Given the description of an element on the screen output the (x, y) to click on. 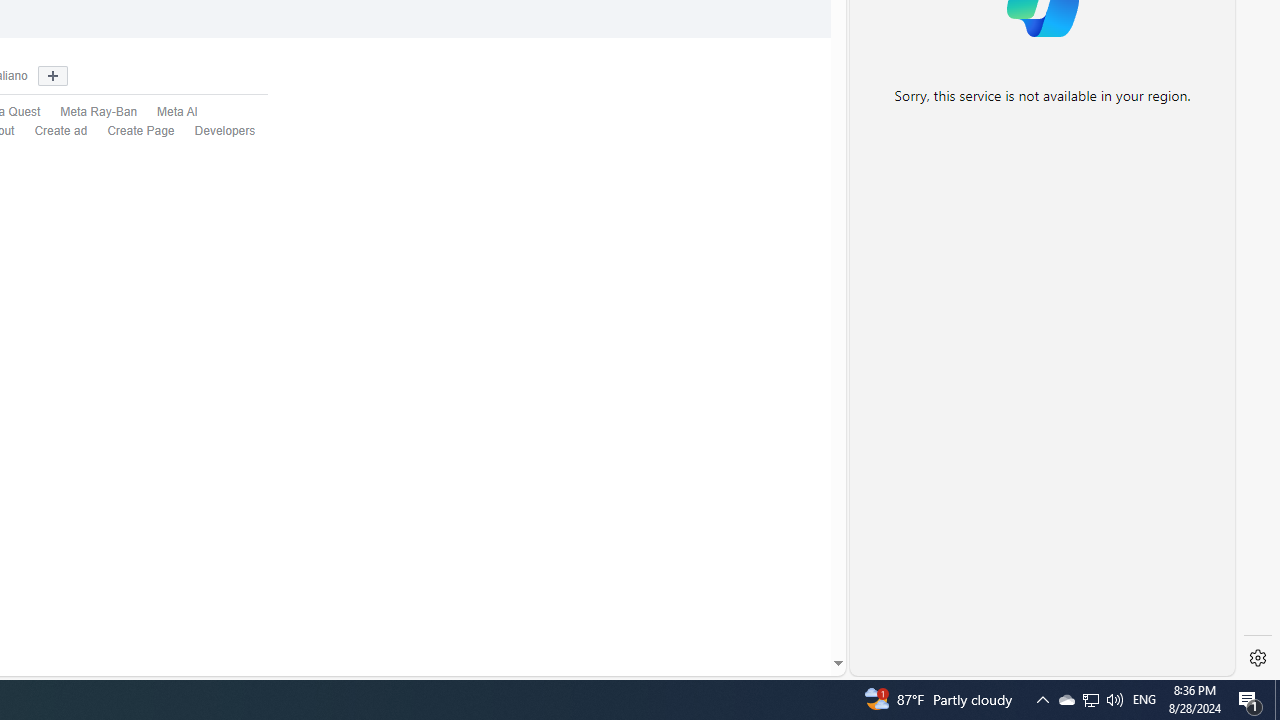
Create ad (51, 131)
Create Page (141, 130)
Meta AI (167, 112)
Settings (1258, 658)
Meta Ray-Ban (88, 112)
Meta Ray-Ban (99, 112)
Create ad (61, 130)
Create Page (131, 131)
Meta AI (177, 112)
Developers (215, 131)
Developers (225, 130)
Show more languages (52, 76)
